Given the description of an element on the screen output the (x, y) to click on. 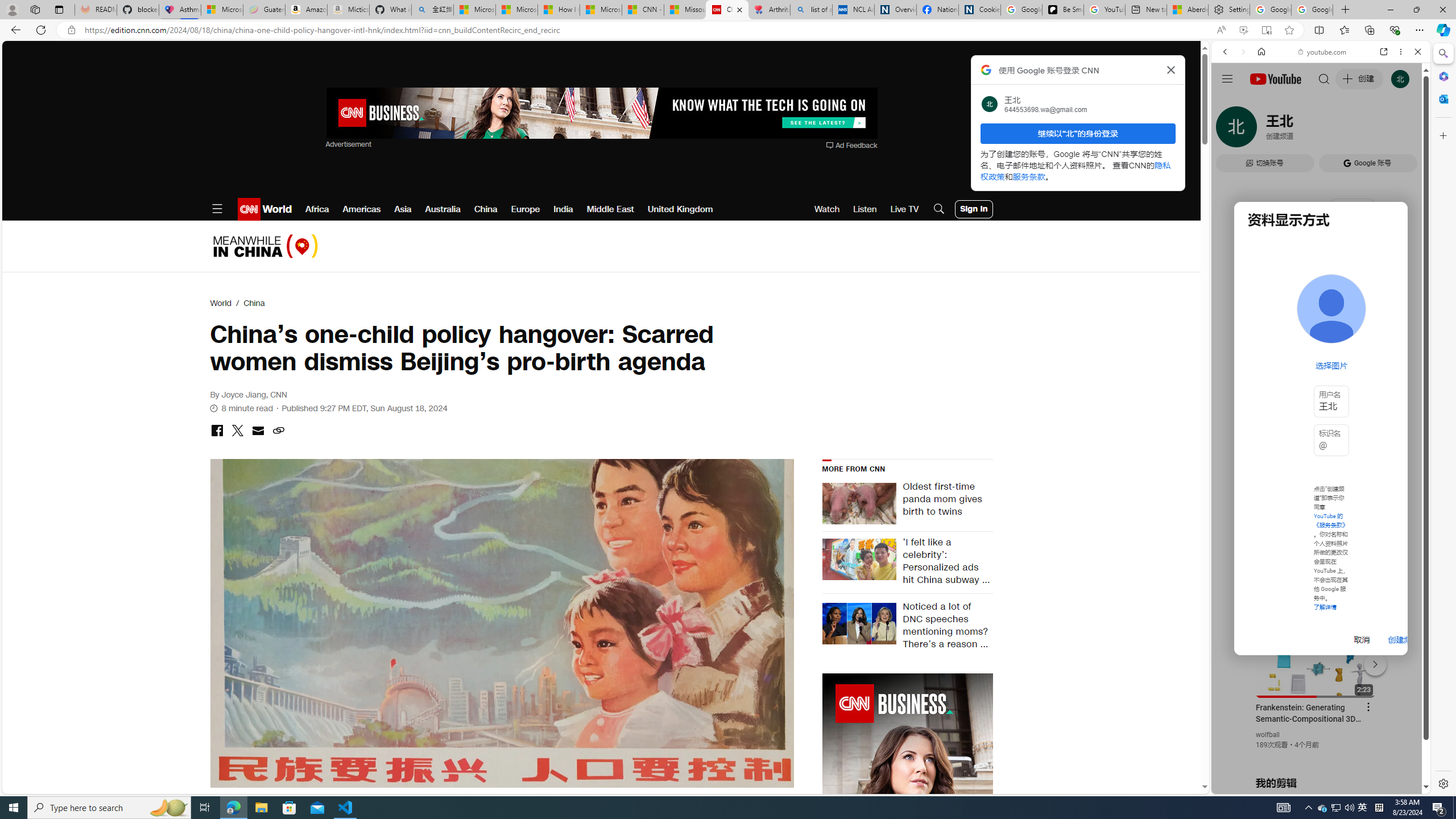
Aberdeen, Hong Kong SAR hourly forecast | Microsoft Weather (1186, 9)
World (220, 303)
Music (1320, 309)
share with x (237, 430)
Class: icon-ui-link (277, 430)
User Account Log In Button (973, 208)
